Given the description of an element on the screen output the (x, y) to click on. 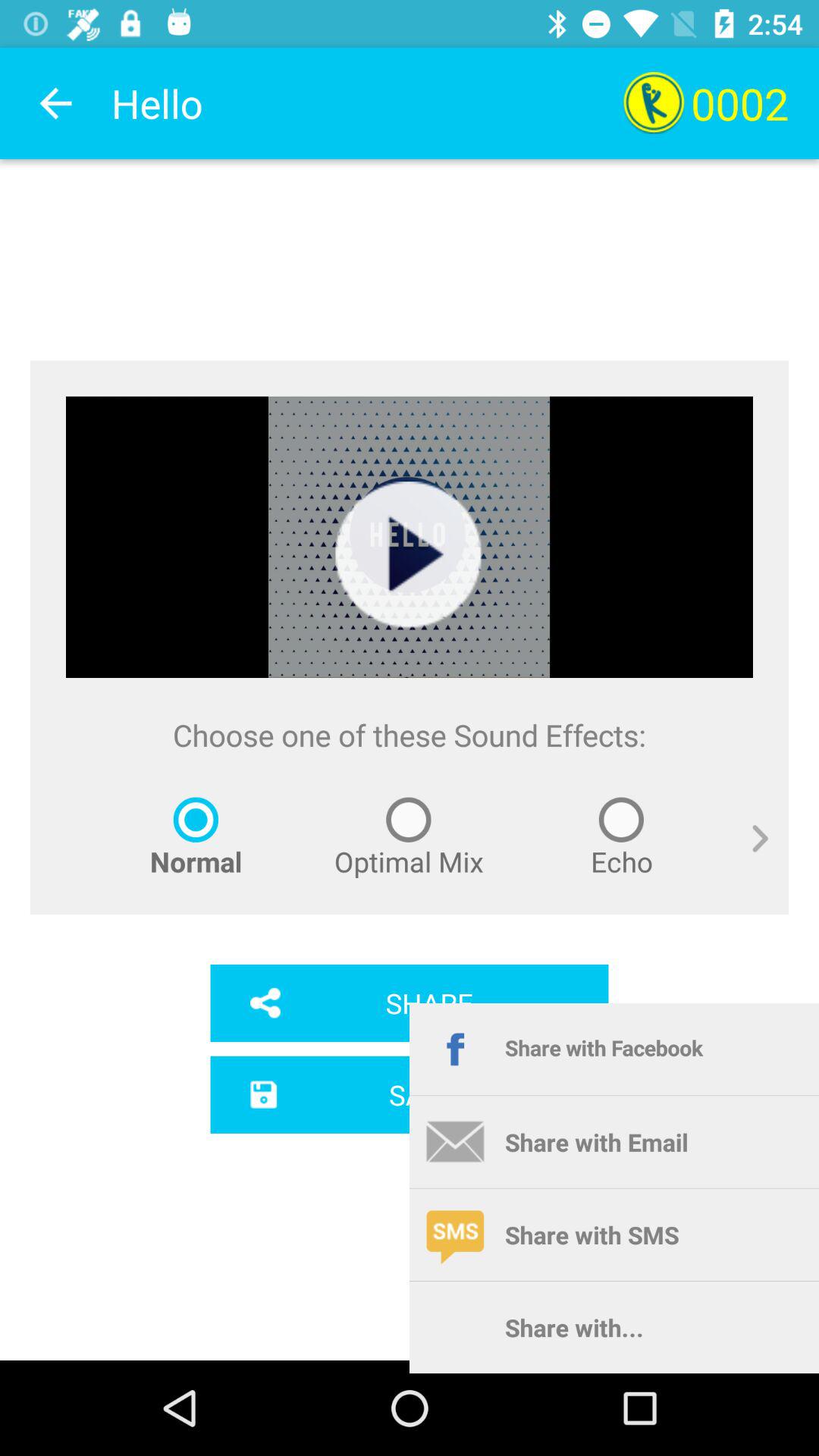
scroll until the save (409, 1094)
